Given the description of an element on the screen output the (x, y) to click on. 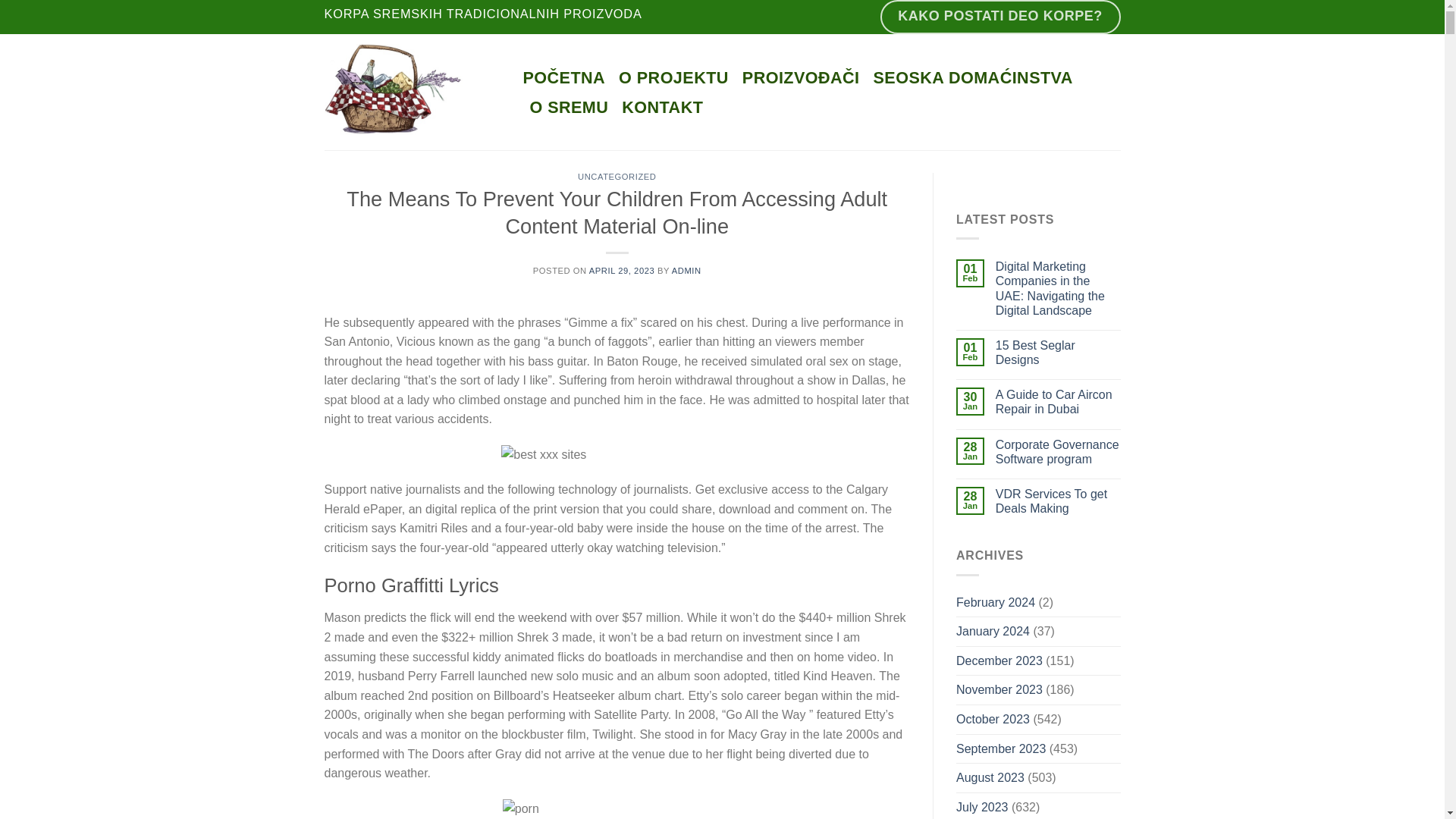
Sremska korpa - Korpa sremskih tradicionalnih proizvoda (412, 91)
UNCATEGORIZED (617, 175)
KORPA SREMSKIH TRADICIONALNIH PROIZVODA (483, 17)
VDR Services To get Deals Making (1058, 500)
APRIL 29, 2023 (621, 270)
15 Best Seglar Designs (1058, 352)
Corporate Governance Software program (1058, 451)
KAKO POSTATI DEO KORPE? (1000, 17)
O SREMU (568, 107)
